Given the description of an element on the screen output the (x, y) to click on. 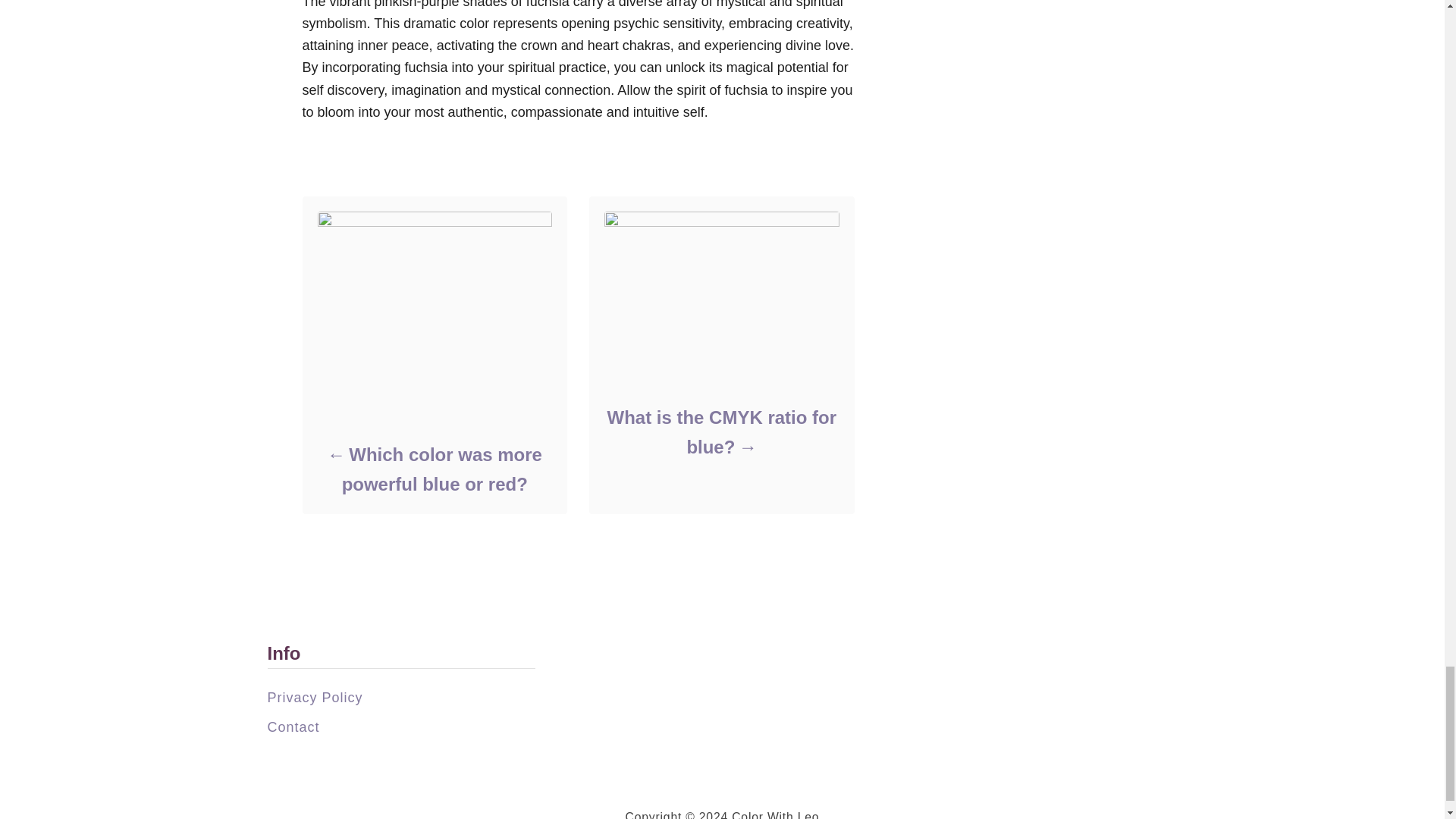
Privacy Policy (314, 697)
Which color was more powerful blue or red? (434, 468)
What is the CMYK ratio for blue? (721, 431)
Contact (292, 726)
